Given the description of an element on the screen output the (x, y) to click on. 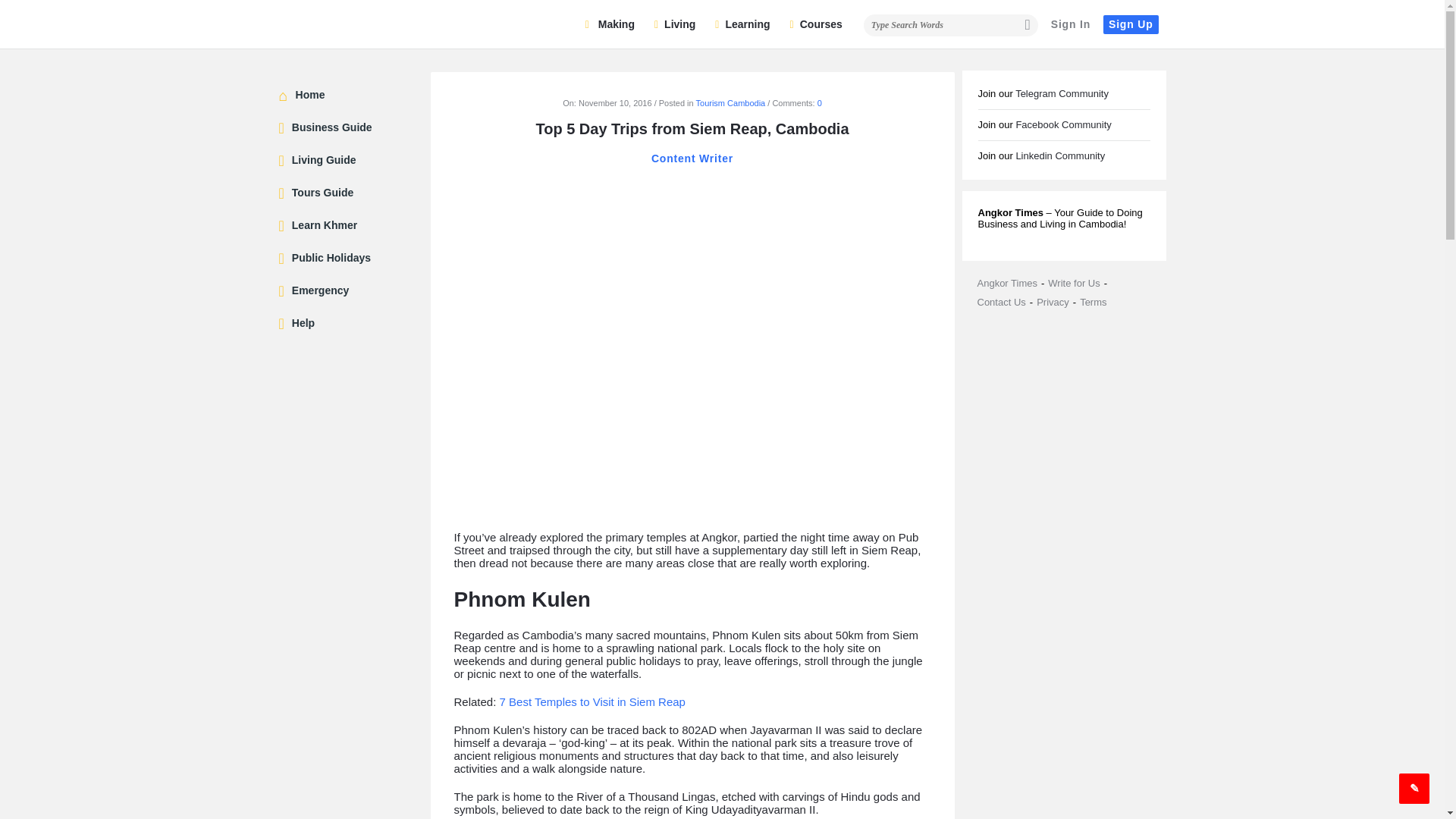
Learning (742, 24)
Courses (816, 24)
Angkor Times (354, 24)
Ask a question (1414, 788)
Living (674, 24)
Making (609, 24)
Top 5 Day Trips from Siem Reap, Cambodia (691, 347)
Sign In (1070, 24)
Sign Up (1130, 24)
